Given the description of an element on the screen output the (x, y) to click on. 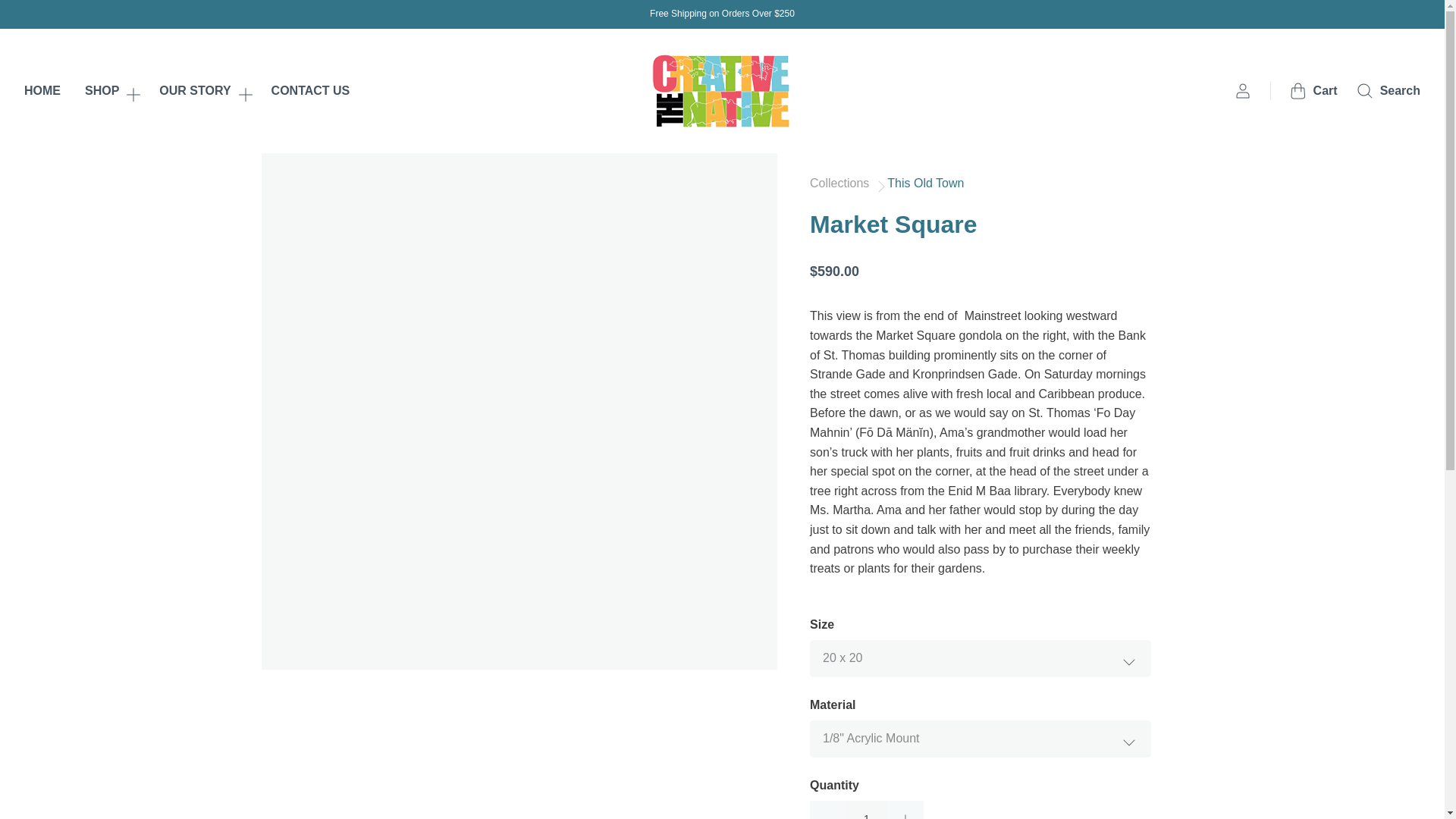
CONTACT US (310, 90)
HOME (42, 90)
Search (1388, 90)
Cart (1313, 90)
SHOP (109, 90)
OUR STORY (202, 90)
1 (865, 809)
